Given the description of an element on the screen output the (x, y) to click on. 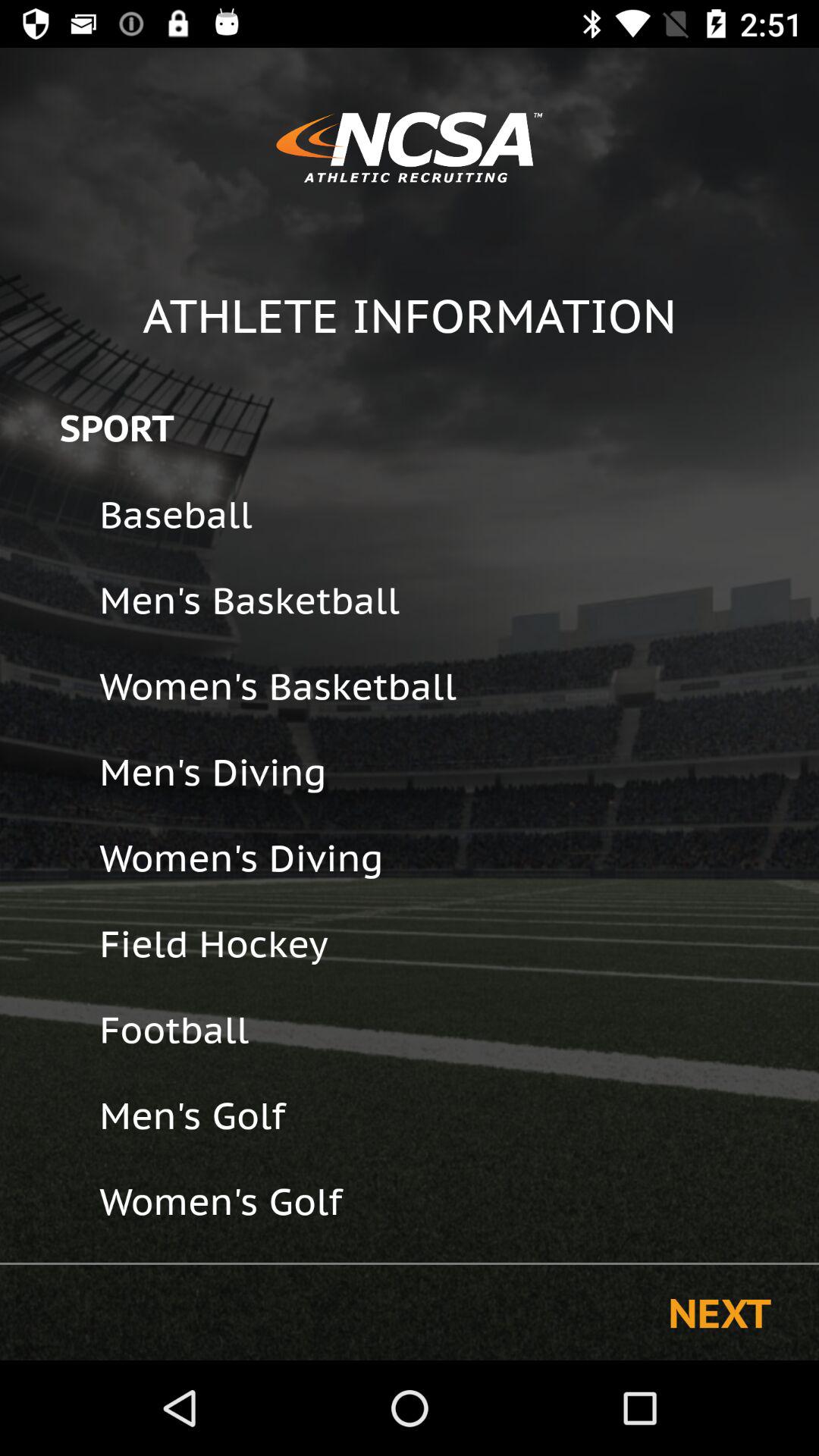
flip until next item (719, 1312)
